Given the description of an element on the screen output the (x, y) to click on. 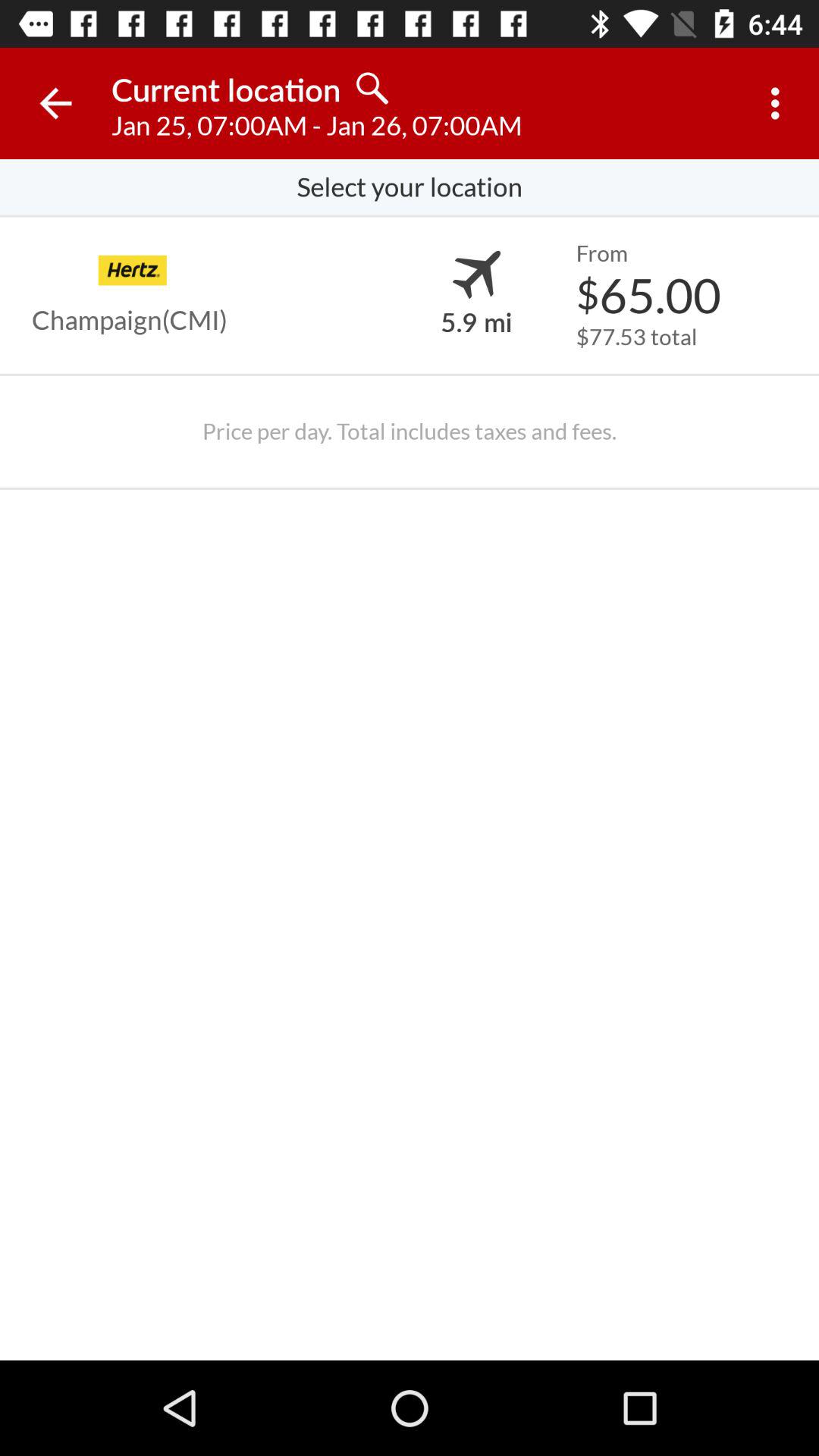
select champaign(cmi) item (129, 319)
